Given the description of an element on the screen output the (x, y) to click on. 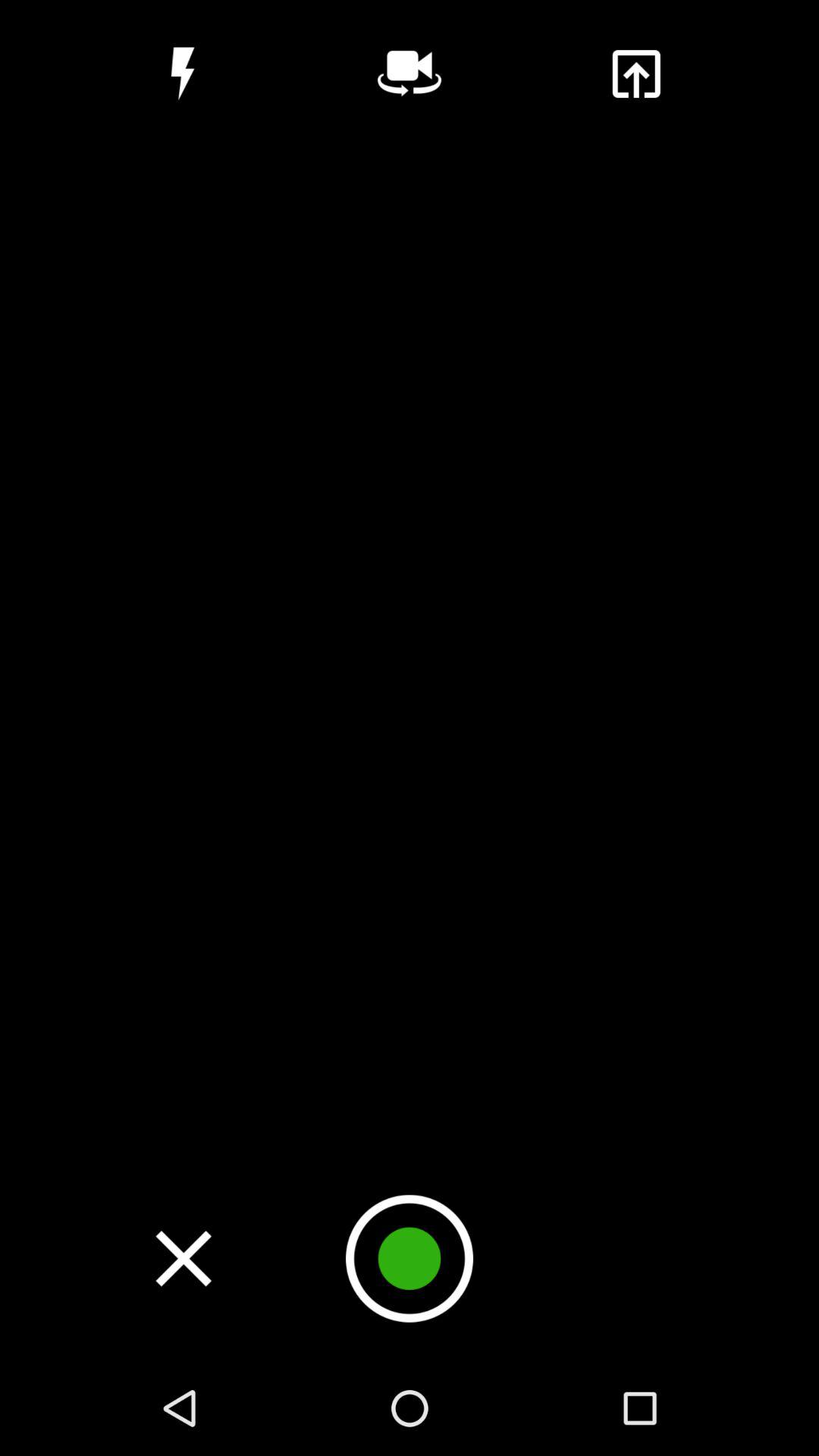
close (183, 1258)
